Given the description of an element on the screen output the (x, y) to click on. 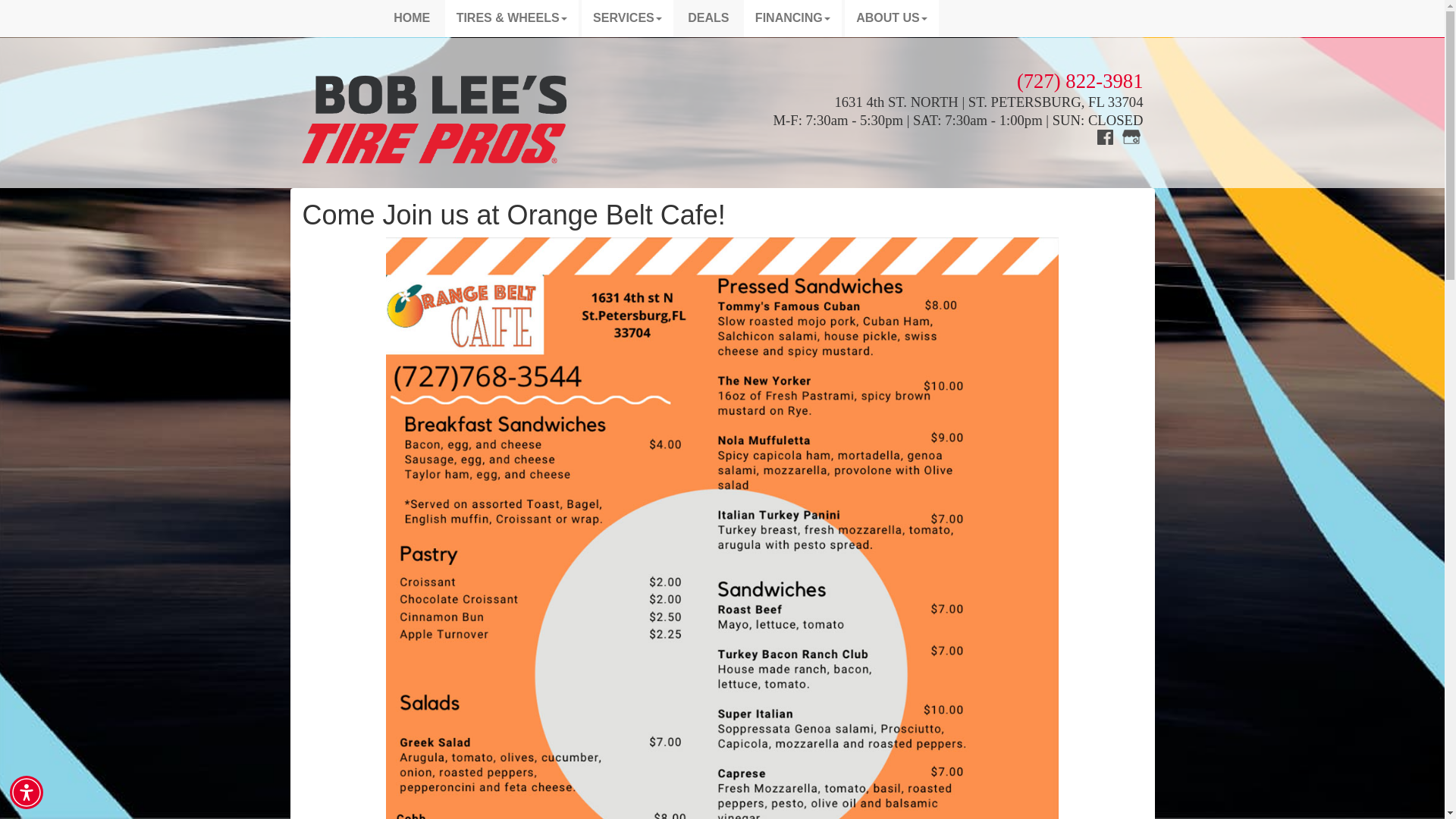
ABOUT US (891, 18)
SERVICES (626, 18)
DEALS (708, 18)
About Us at Bob Lee's Tire Pros in St. Petersburg, FL 33704 (891, 18)
Welcome to Bob Lee's Tire Pros in St. Petersburg, FL 33704 (411, 18)
FINANCING (792, 18)
HOME (411, 18)
Accessibility Menu (26, 792)
